Given the description of an element on the screen output the (x, y) to click on. 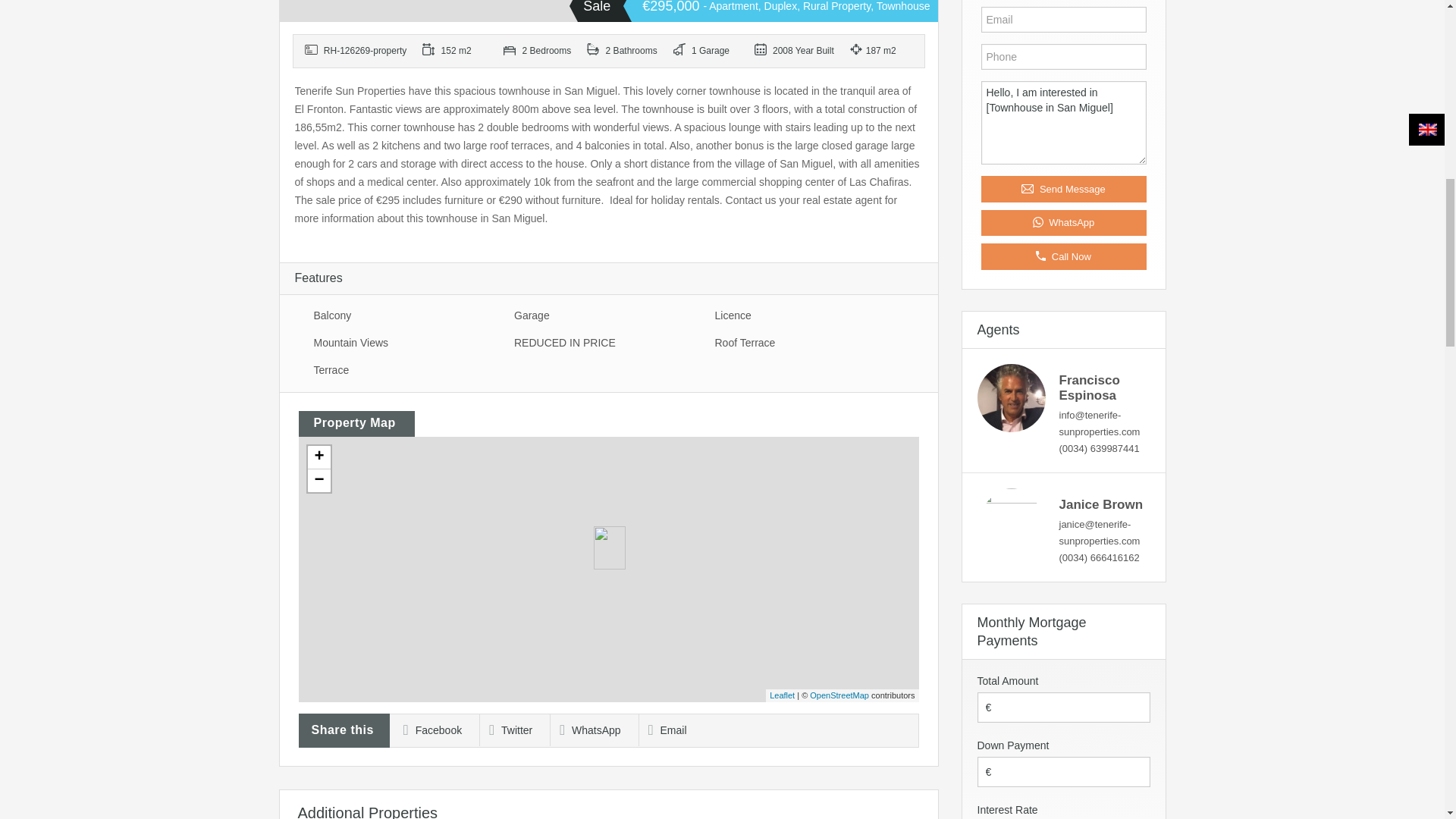
Property ID (358, 51)
A JS library for interactive maps (782, 695)
Zoom out (318, 480)
Area Size (457, 51)
Zoom in (318, 457)
Lot Size (884, 51)
